Given the description of an element on the screen output the (x, y) to click on. 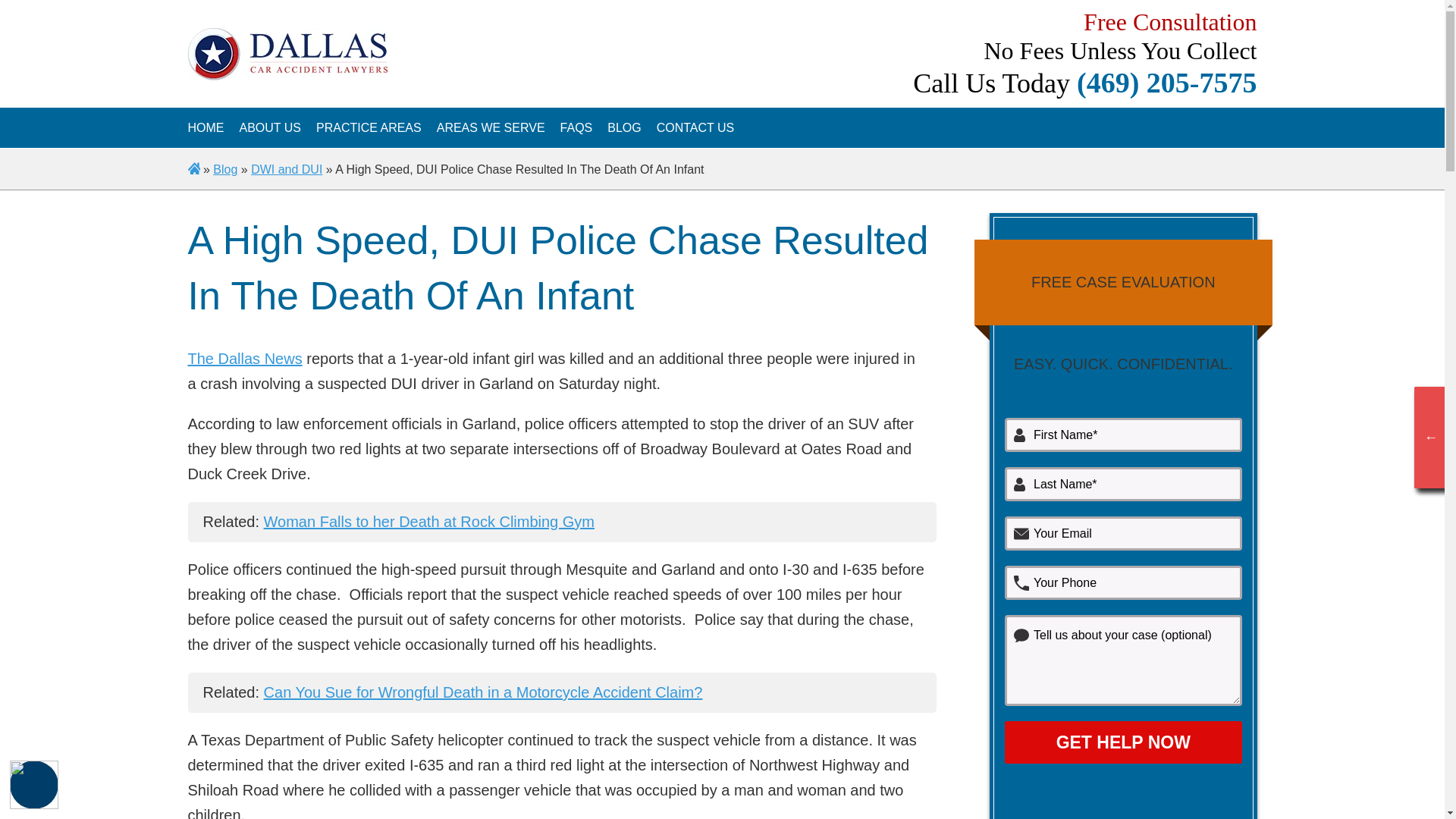
Dallas Car Accident Legal Representation  (270, 127)
ABOUT US (270, 127)
Accessibility Menu (34, 784)
Dallas Car Accident Lawyers (205, 127)
PRACTICE AREAS (368, 127)
AREAS WE SERVE (490, 127)
Get Help Now (1122, 742)
HOME (205, 127)
